Given the description of an element on the screen output the (x, y) to click on. 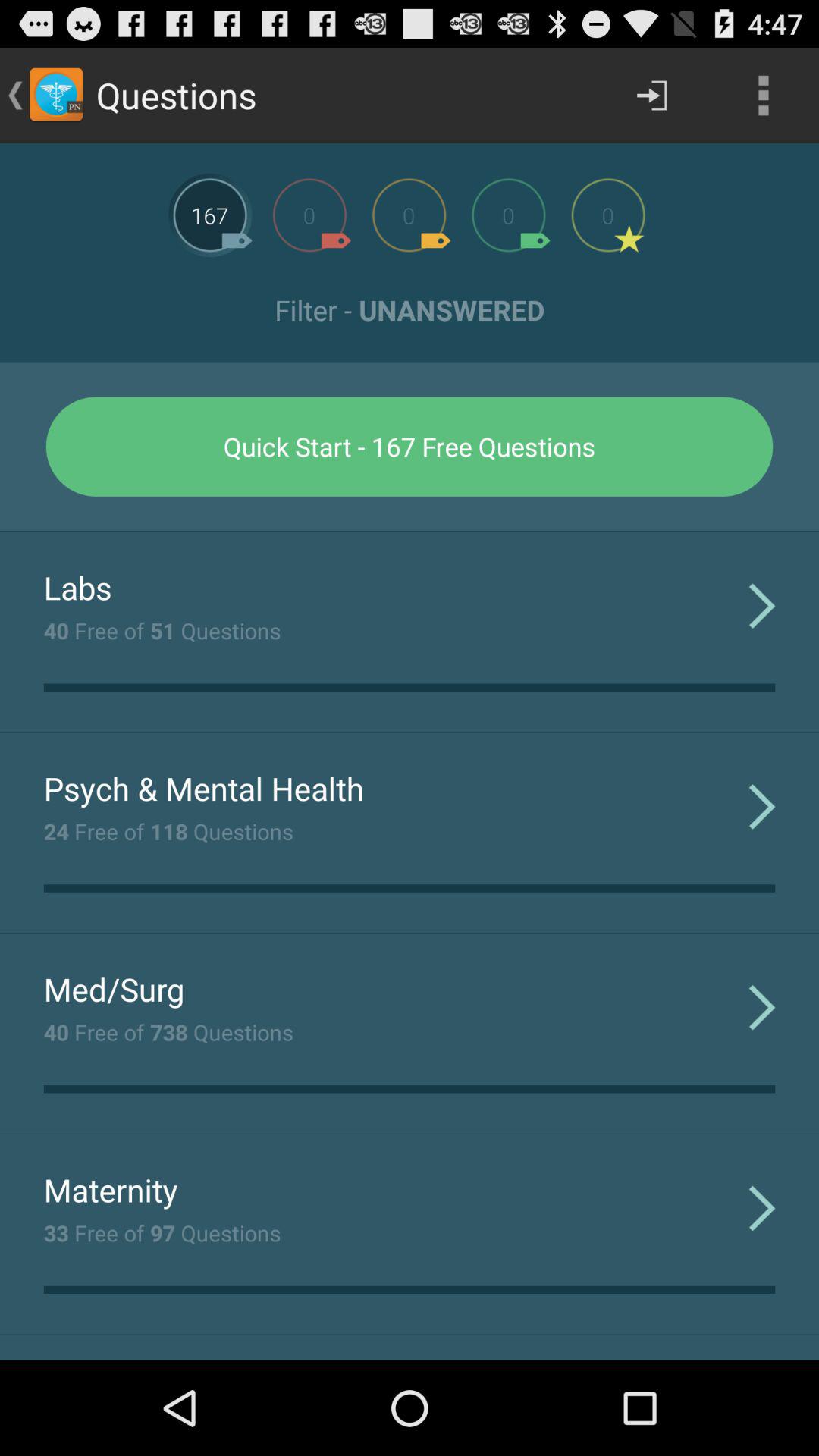
select tag (508, 215)
